Given the description of an element on the screen output the (x, y) to click on. 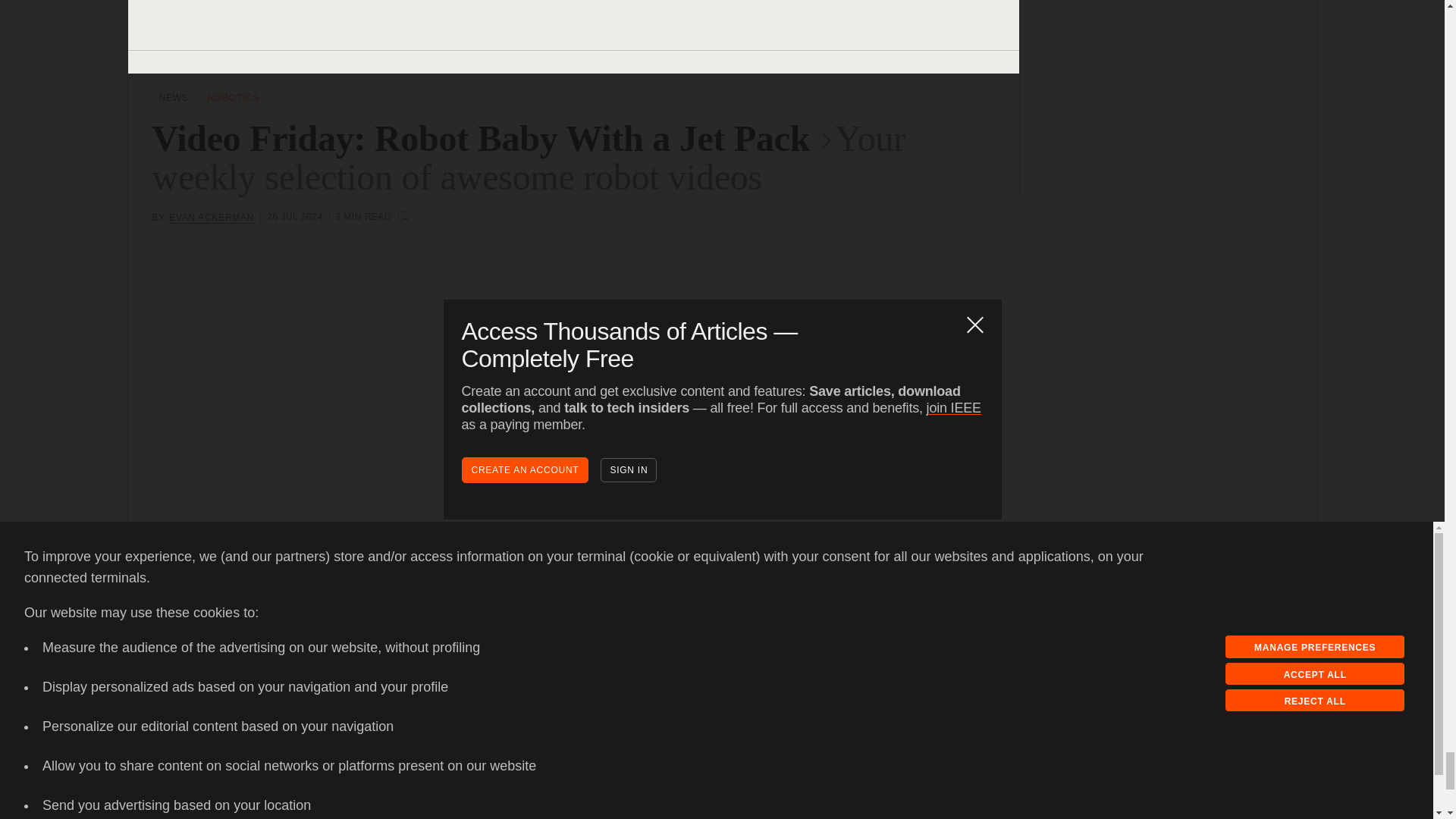
Copy this link to clipboard (192, 812)
